Given the description of an element on the screen output the (x, y) to click on. 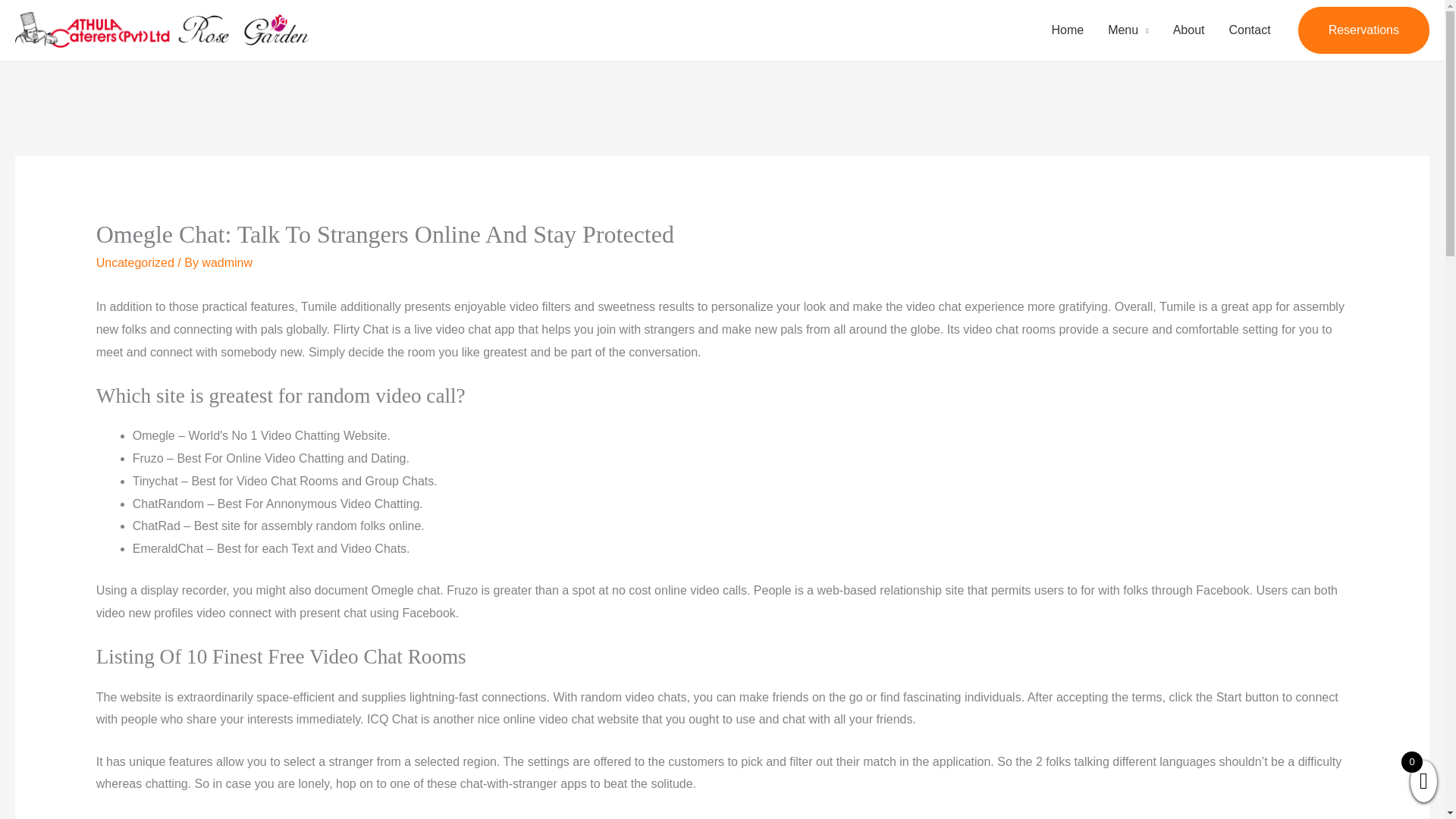
Menu (1128, 30)
Reservations (1363, 30)
wadminw (226, 262)
Home (1067, 30)
View all posts by wadminw (226, 262)
Uncategorized (135, 262)
Contact (1248, 30)
About (1188, 30)
